Given the description of an element on the screen output the (x, y) to click on. 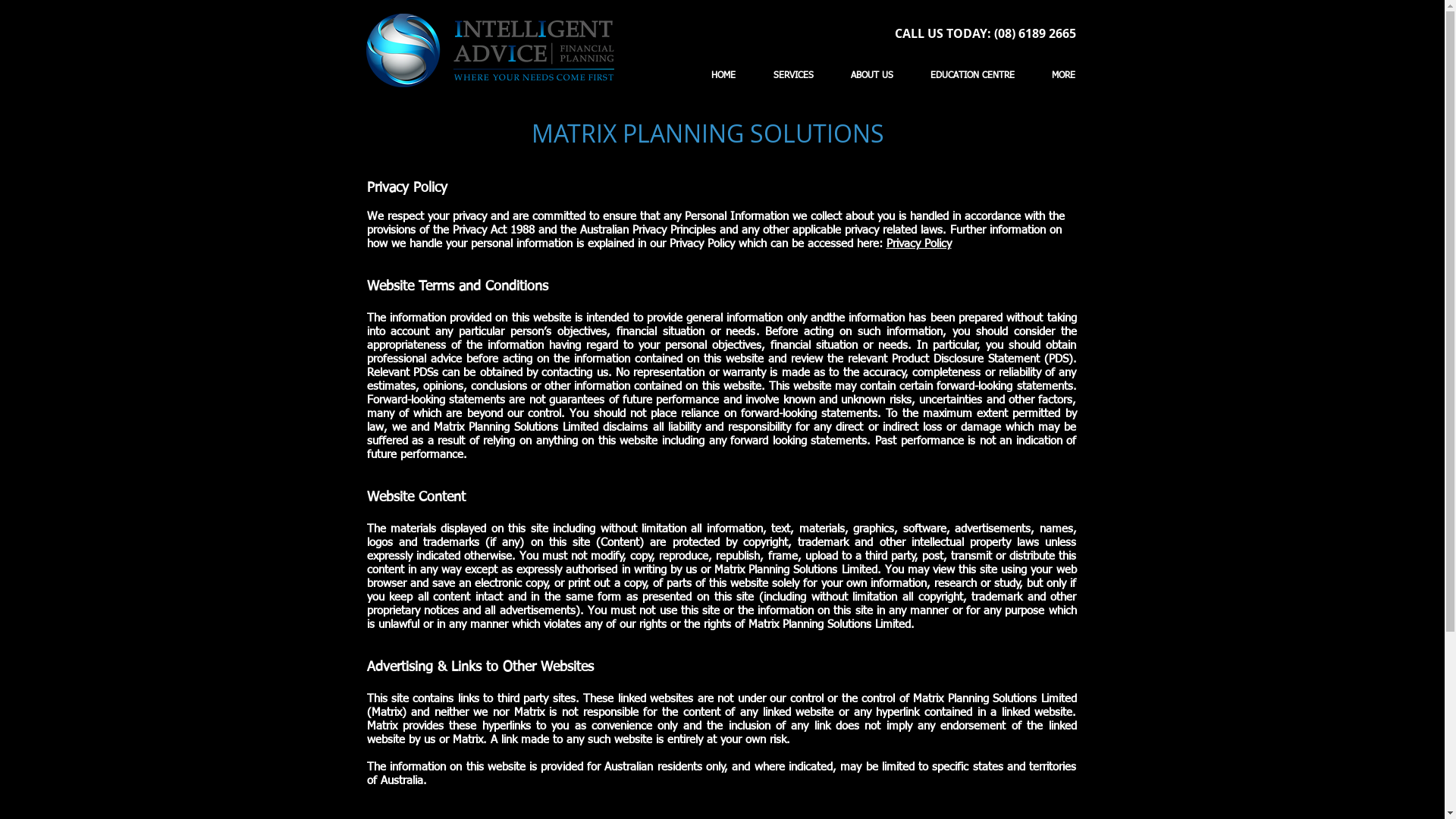
Privacy Policy Element type: text (917, 243)
HOME Element type: text (722, 75)
Logo JPG.jpg Element type: hover (489, 50)
EDUCATION CENTRE Element type: text (971, 75)
